Given the description of an element on the screen output the (x, y) to click on. 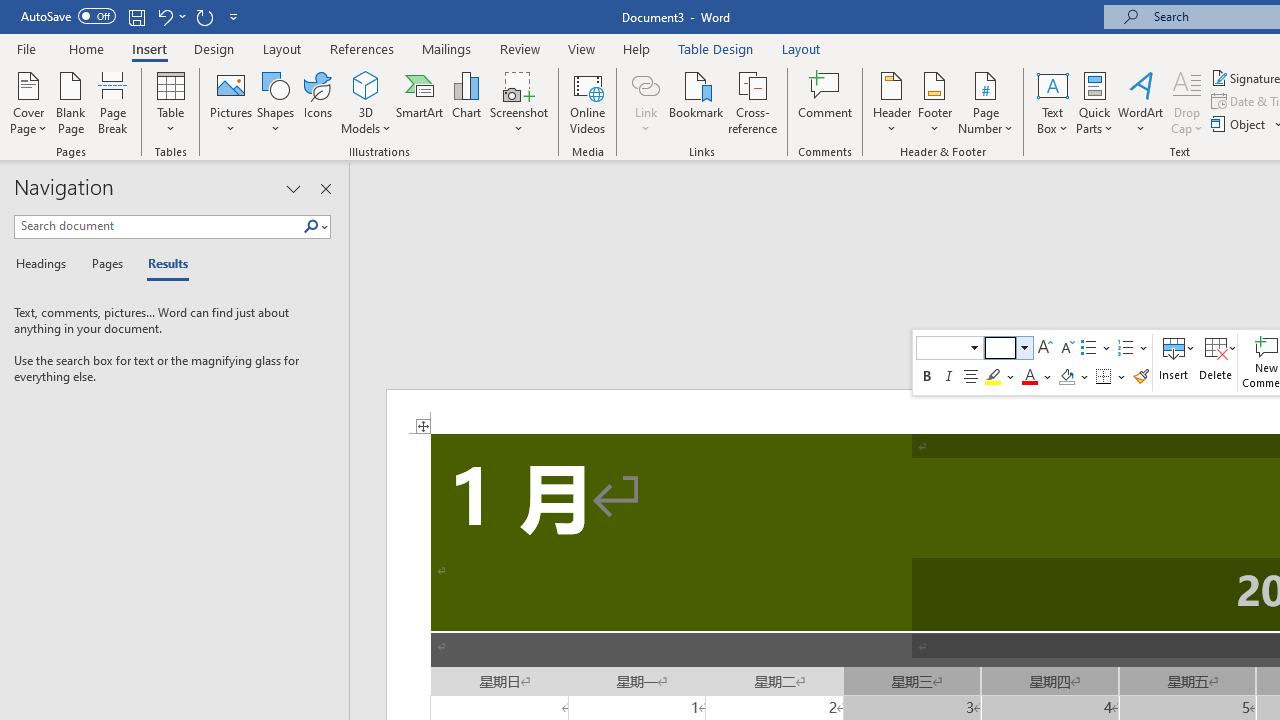
3D Models (366, 84)
Delete (1215, 361)
Cross-reference... (752, 102)
Shapes (275, 102)
Repeat Doc Close (204, 15)
Icons (317, 102)
